Given the description of an element on the screen output the (x, y) to click on. 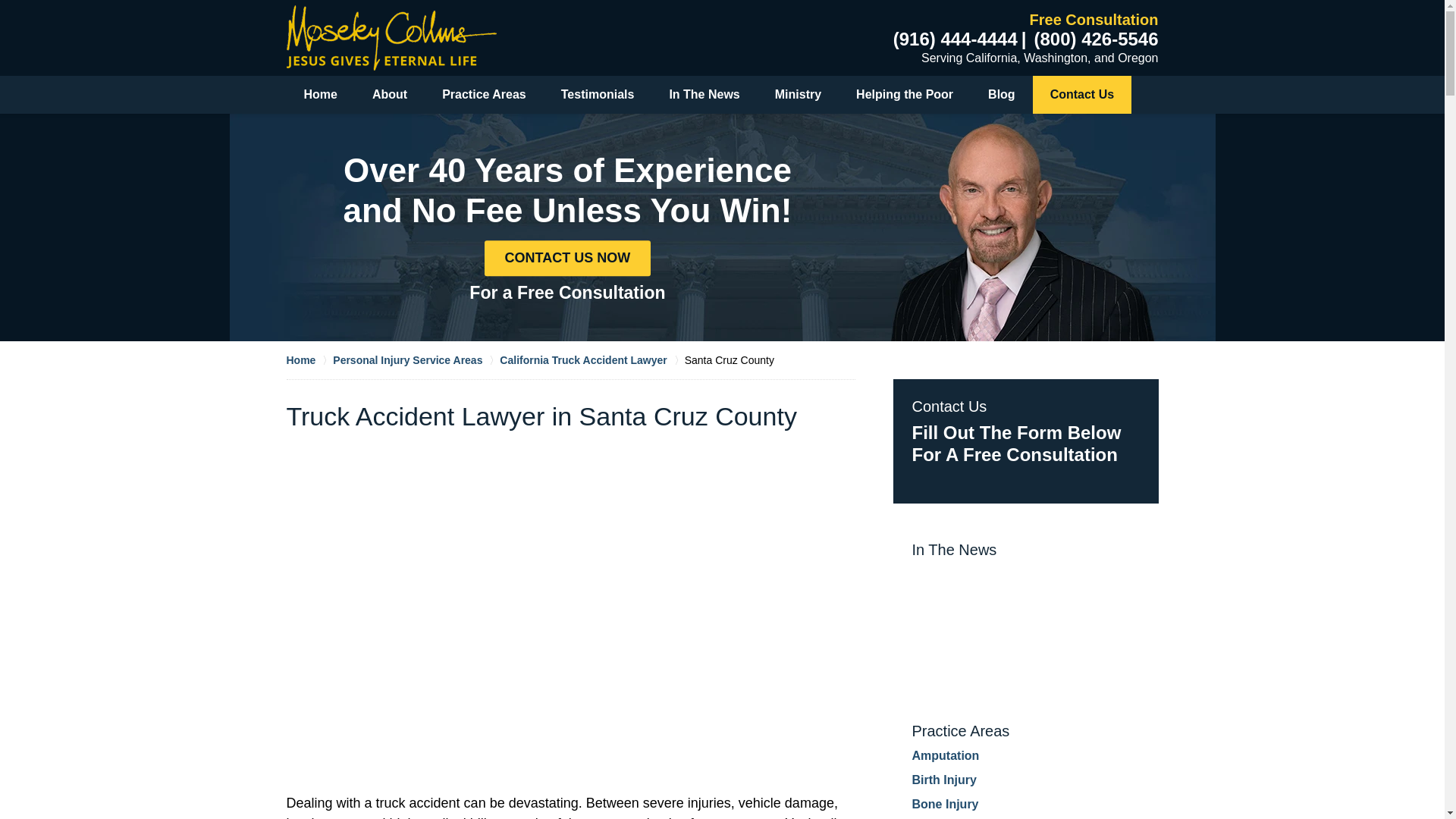
CONTACT US NOW (567, 258)
Practice Areas (960, 730)
Contact Us (1081, 94)
Birth Injury (943, 779)
In The News (703, 94)
Sacramento Accident Lawyer Moseley Collins Home (391, 37)
Back to Home (391, 37)
Personal Injury Service Areas (416, 359)
California Truck Accident Lawyer (591, 359)
Home (309, 359)
Testimonials (597, 94)
Bone Injury (944, 803)
Blog (1001, 94)
About (390, 94)
Amputation (944, 755)
